Given the description of an element on the screen output the (x, y) to click on. 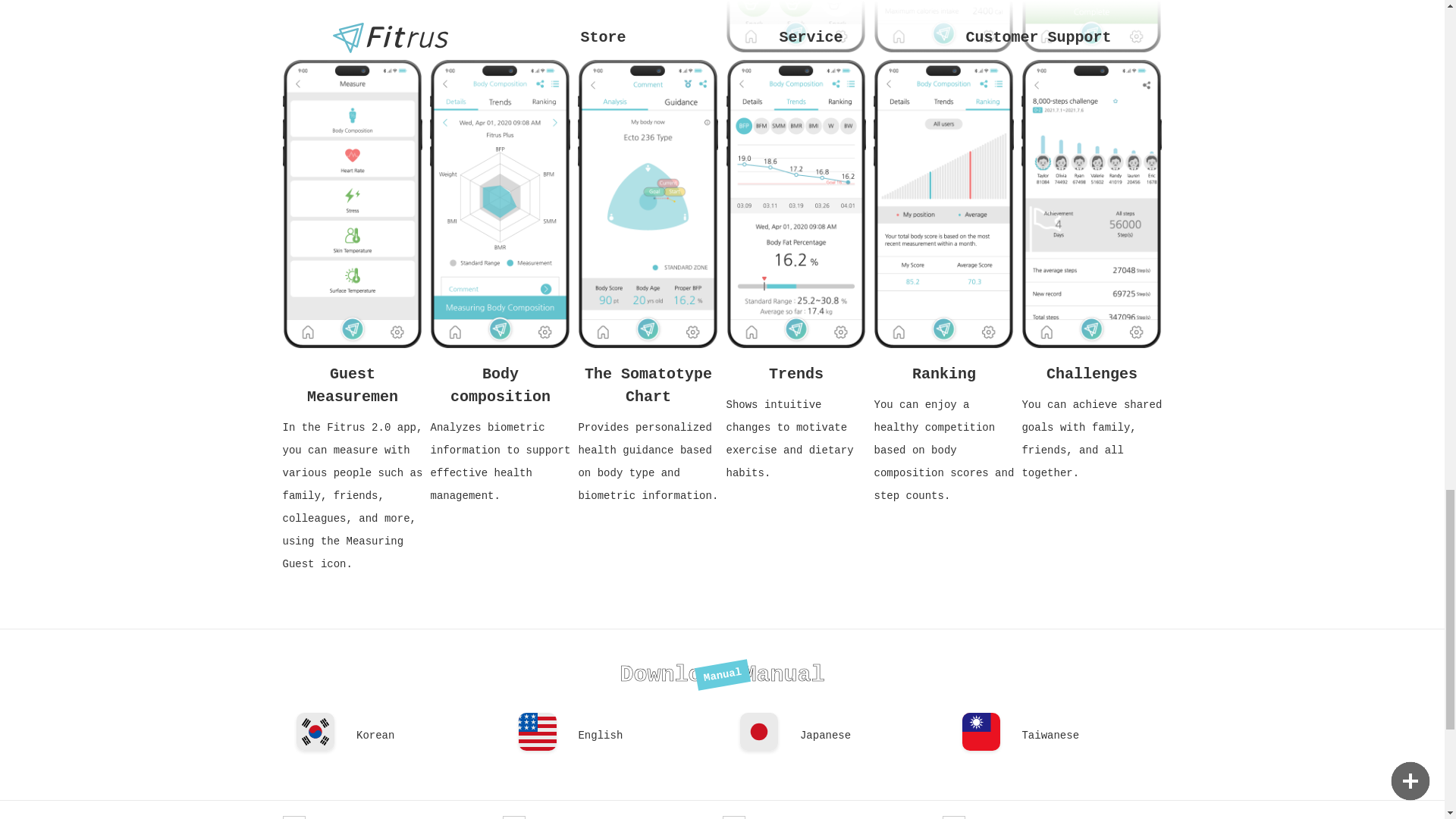
Korean (426, 738)
English (647, 738)
About Us (392, 813)
Japanese (869, 738)
Business (612, 813)
Taiwanese (1091, 738)
Customer Support (1051, 813)
Contact (832, 813)
